Given the description of an element on the screen output the (x, y) to click on. 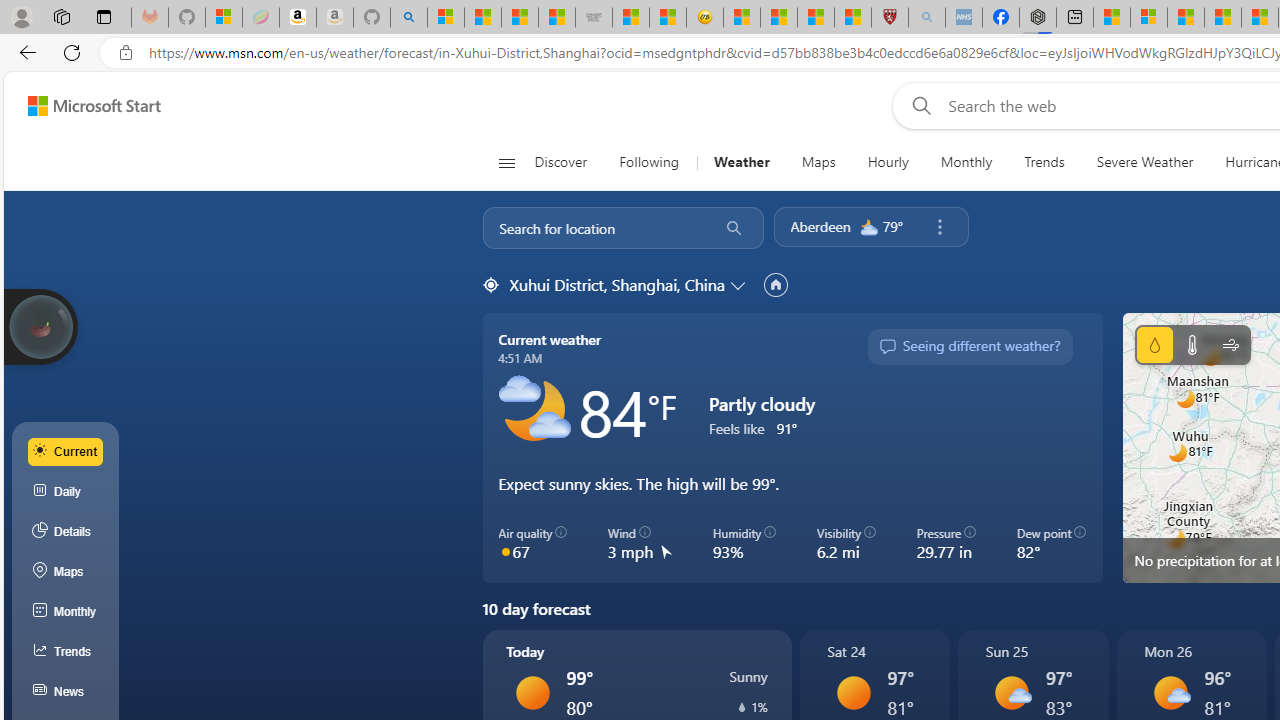
Maps (818, 162)
Sunny (853, 692)
Air quality 67 (532, 543)
Wind (1230, 344)
Maps (65, 572)
Skip to footer (82, 105)
Precipitation (1154, 344)
Visibility 6.2 mi (845, 543)
Trends (1044, 162)
Mostly sunny (1169, 692)
